Given the description of an element on the screen output the (x, y) to click on. 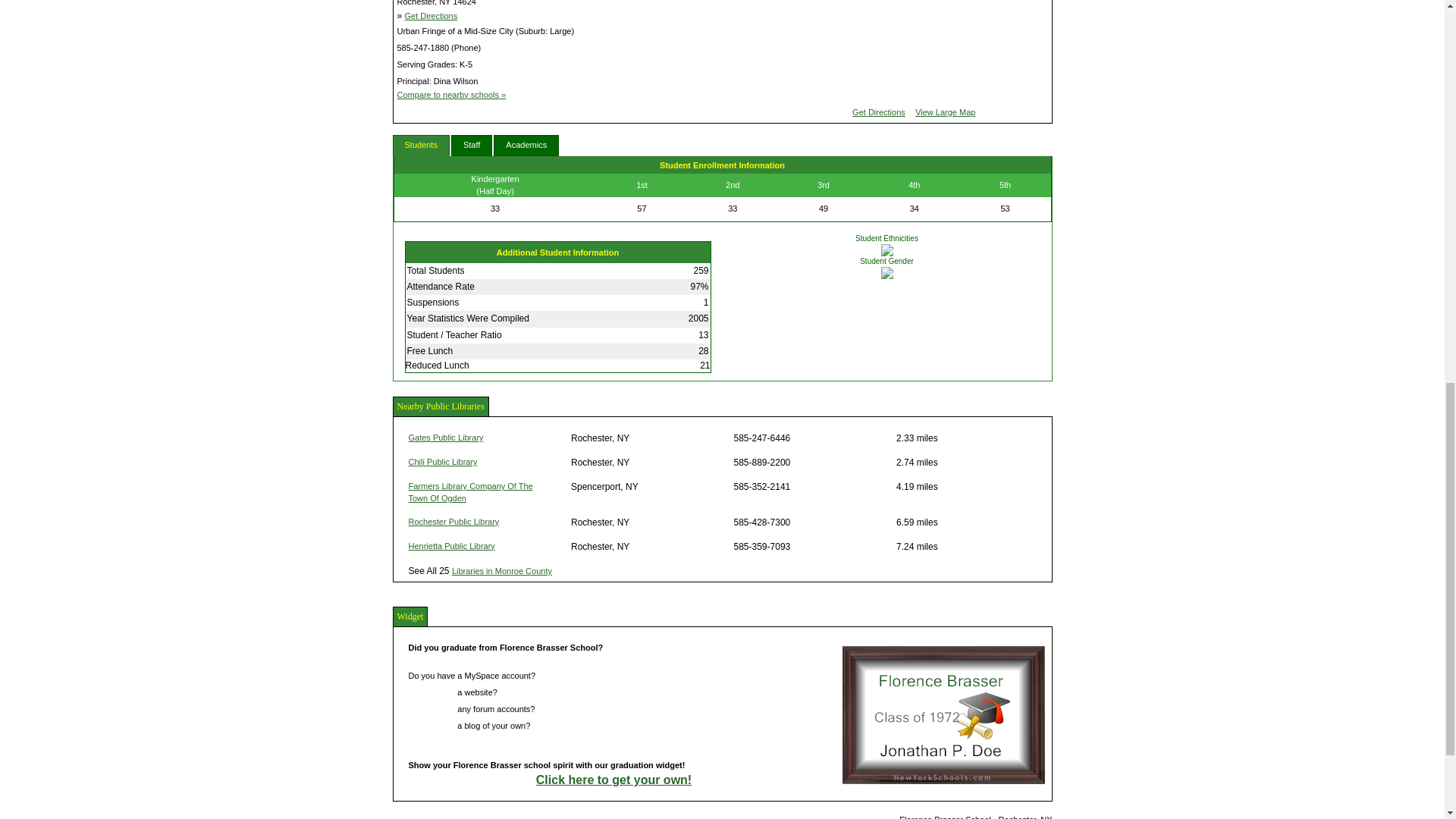
Students (421, 145)
Staff (471, 145)
View Large Map (945, 112)
Get Directions (878, 112)
Get Directions (431, 15)
